Given the description of an element on the screen output the (x, y) to click on. 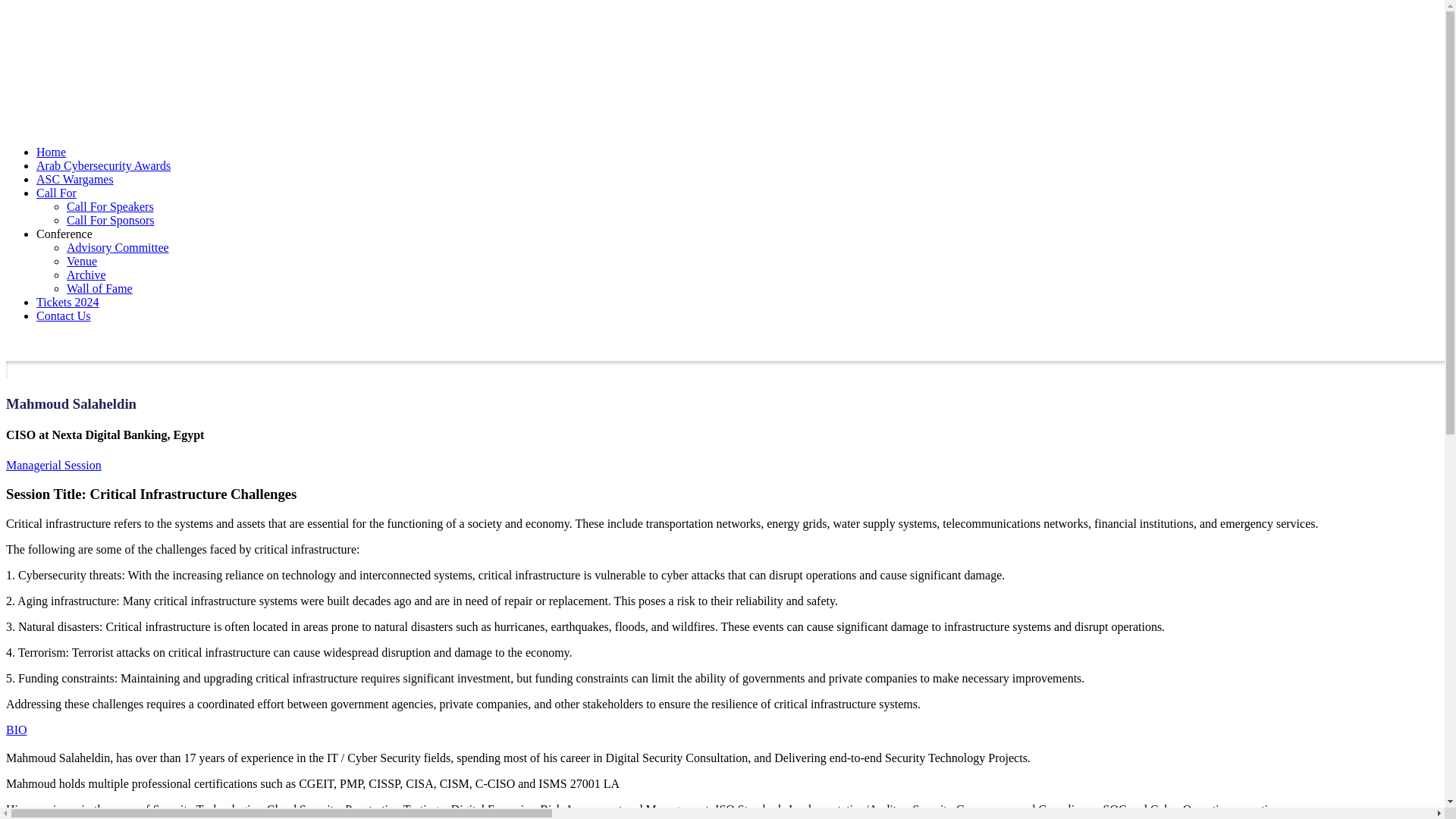
BIO (16, 729)
Call For (56, 192)
ASC Wargames (74, 178)
Advisory Committee (117, 246)
Cyber Defense in an Era Cyberwarfares (118, 70)
Call For Speakers (110, 205)
Arab Cybersecurity Awards (103, 164)
Archive (86, 274)
Home (50, 151)
Managerial Session (53, 464)
